Given the description of an element on the screen output the (x, y) to click on. 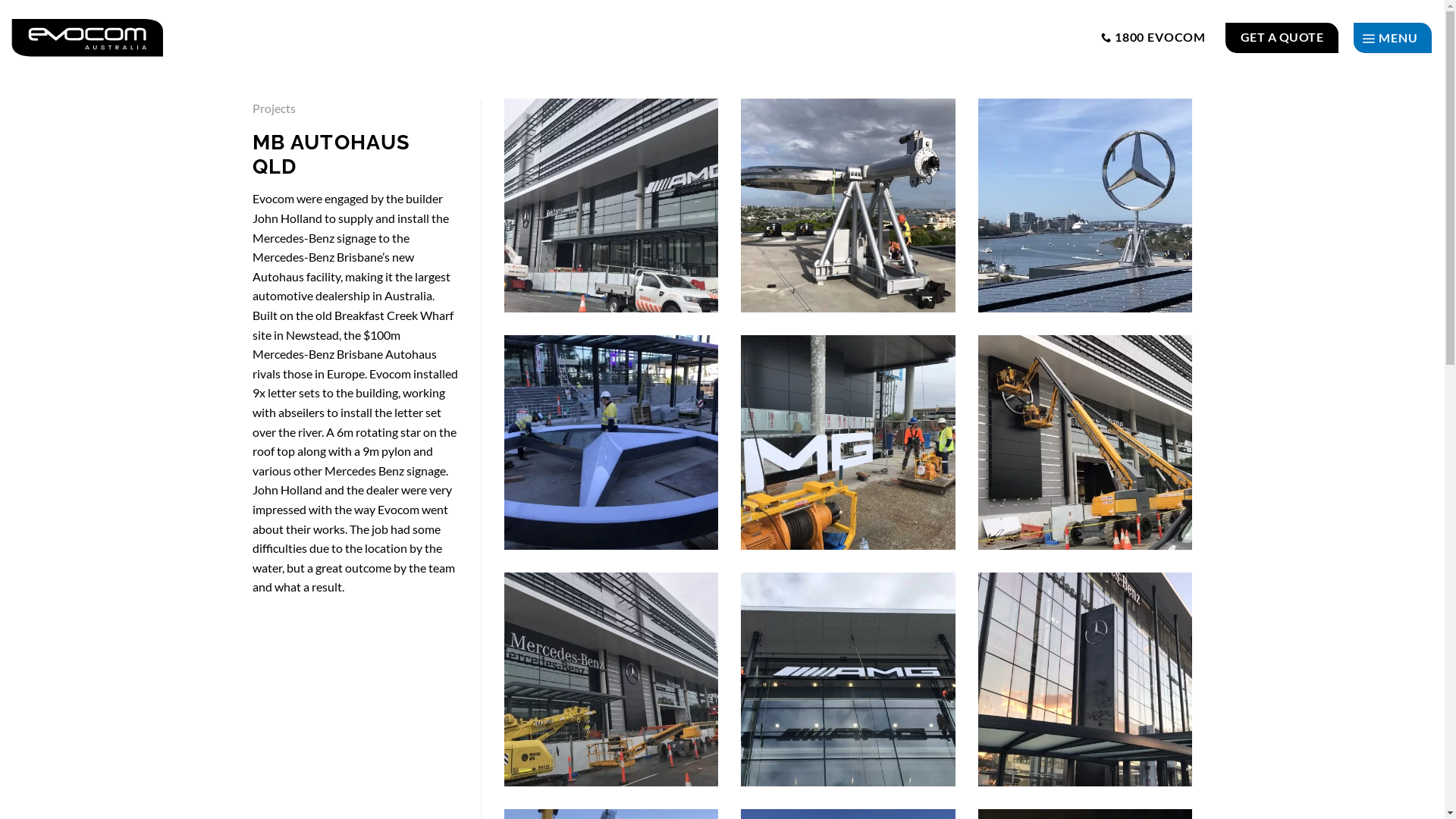
Projects Element type: text (272, 107)
GET A QUOTE Element type: text (1281, 37)
1800 EVOCOM Element type: text (1153, 36)
Evocom - The next evolution in signage Element type: hover (87, 37)
MENU Element type: text (1392, 37)
